Given the description of an element on the screen output the (x, y) to click on. 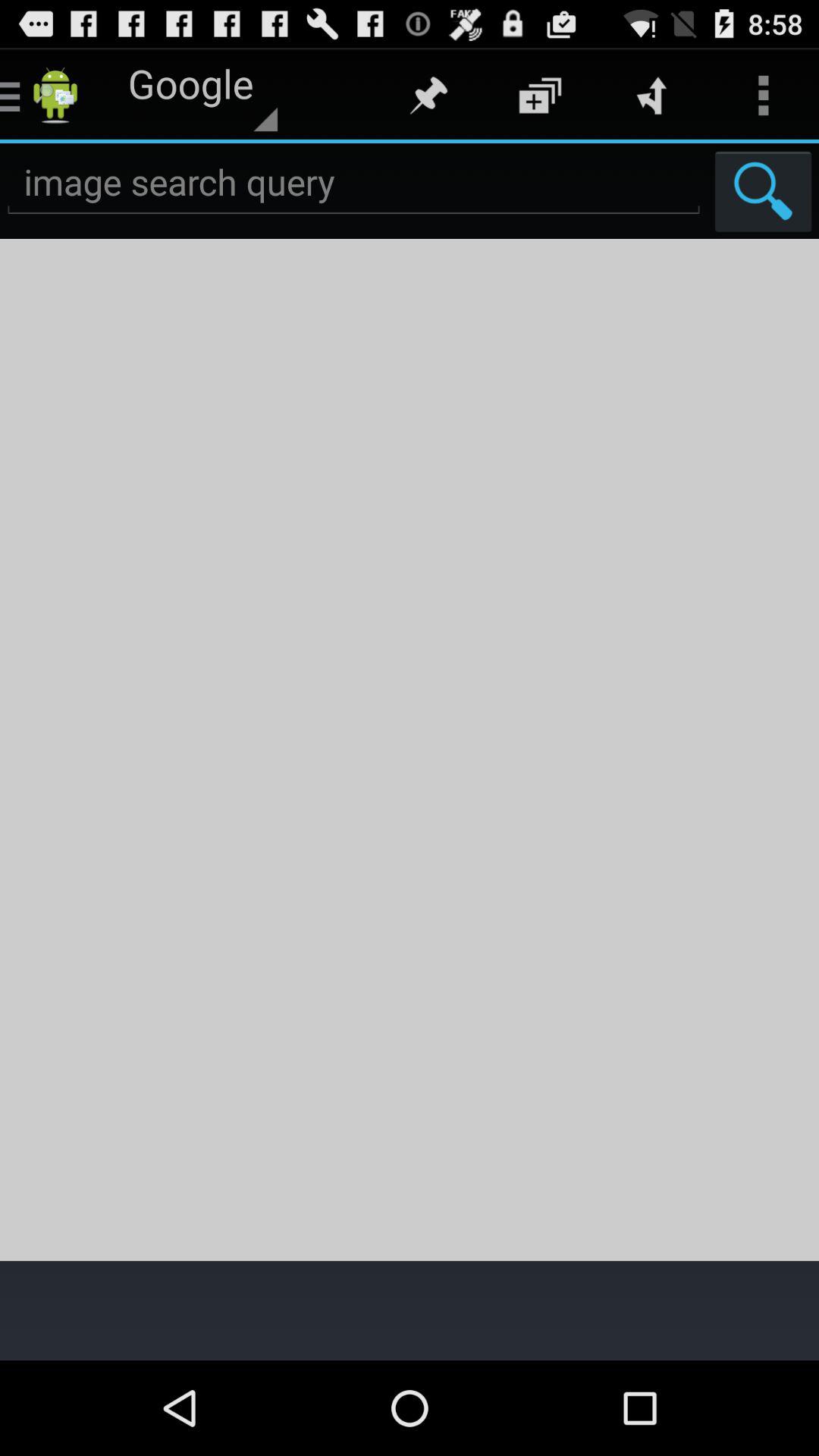
image result (409, 749)
